Given the description of an element on the screen output the (x, y) to click on. 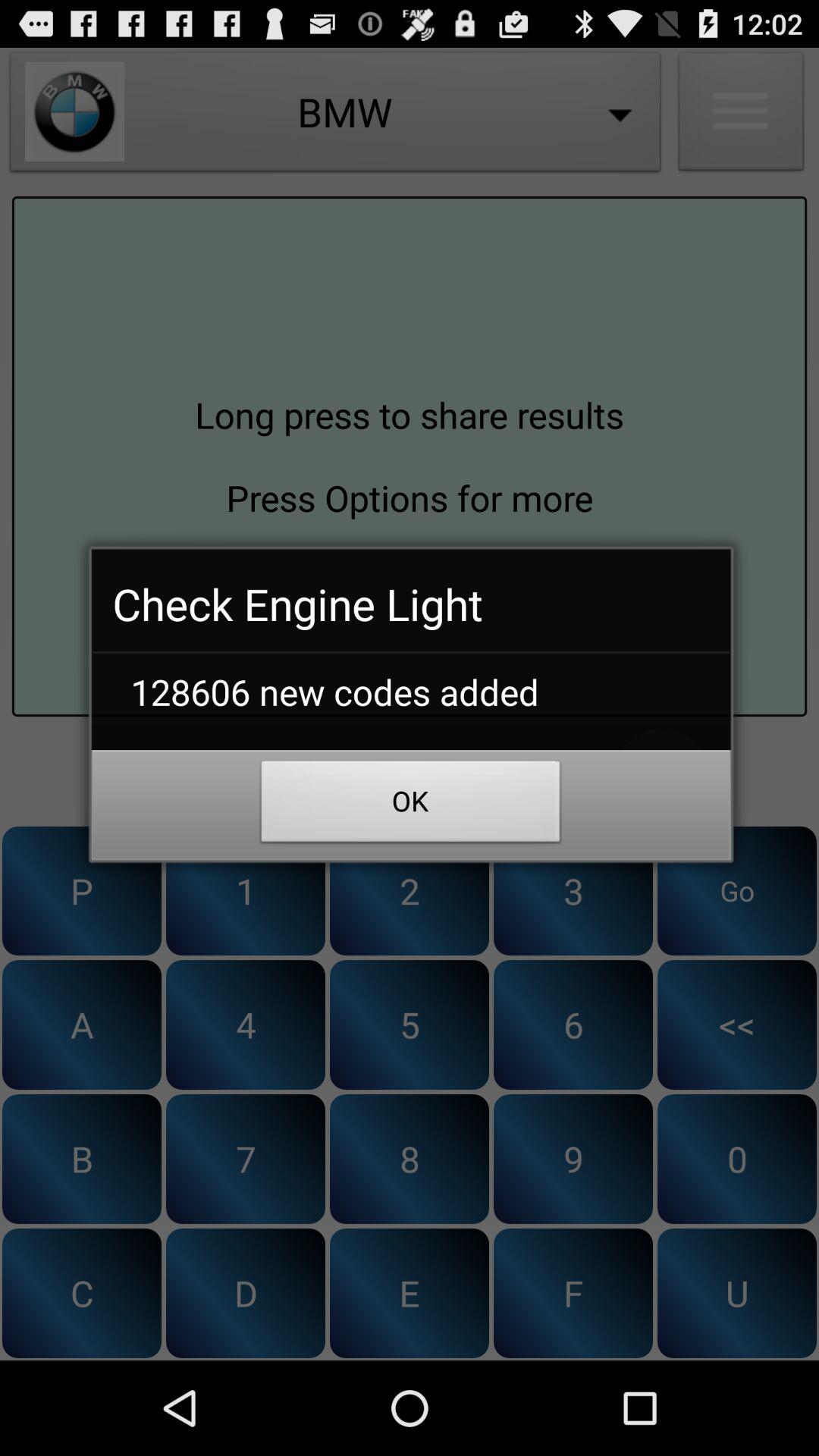
open menu (741, 115)
